Given the description of an element on the screen output the (x, y) to click on. 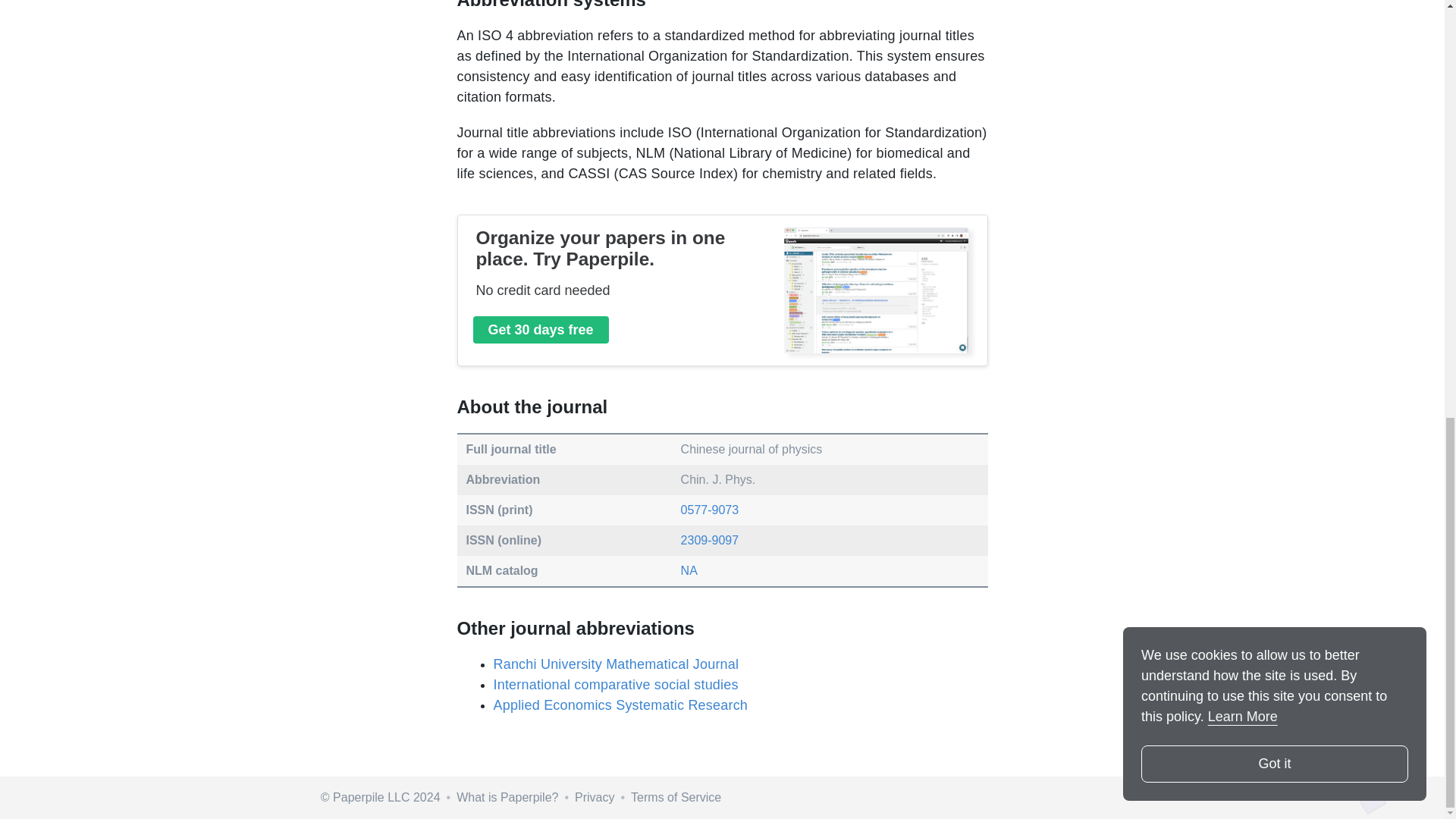
International comparative social studies (615, 684)
2309-9097 (710, 540)
Get 30 days free (540, 329)
Privacy (594, 797)
Terms of Service (675, 797)
Ranchi University Mathematical Journal (615, 663)
NA (689, 570)
What is Paperpile? (506, 797)
0577-9073 (710, 509)
Applied Economics Systematic Research (620, 704)
